Given the description of an element on the screen output the (x, y) to click on. 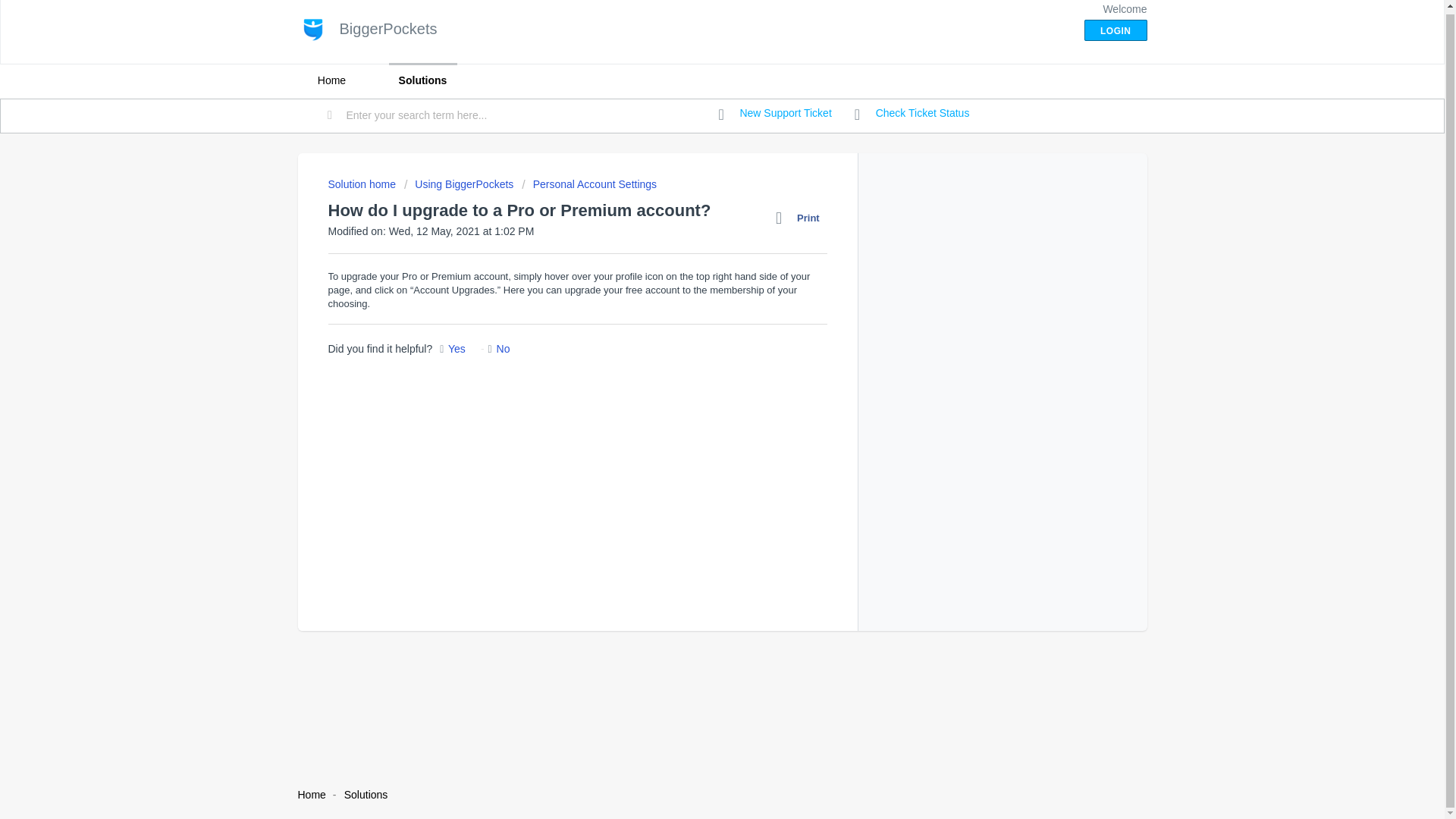
New support ticket (775, 113)
Personal Account Settings (588, 184)
Home (310, 794)
LOGIN (1115, 29)
Print (801, 218)
Check Ticket Status (911, 113)
Print this Article (801, 218)
Using BiggerPockets (458, 184)
Solutions (365, 794)
Solutions (422, 80)
New Support Ticket (775, 113)
Solution home (362, 184)
Check ticket status (911, 113)
Home (331, 80)
